Given the description of an element on the screen output the (x, y) to click on. 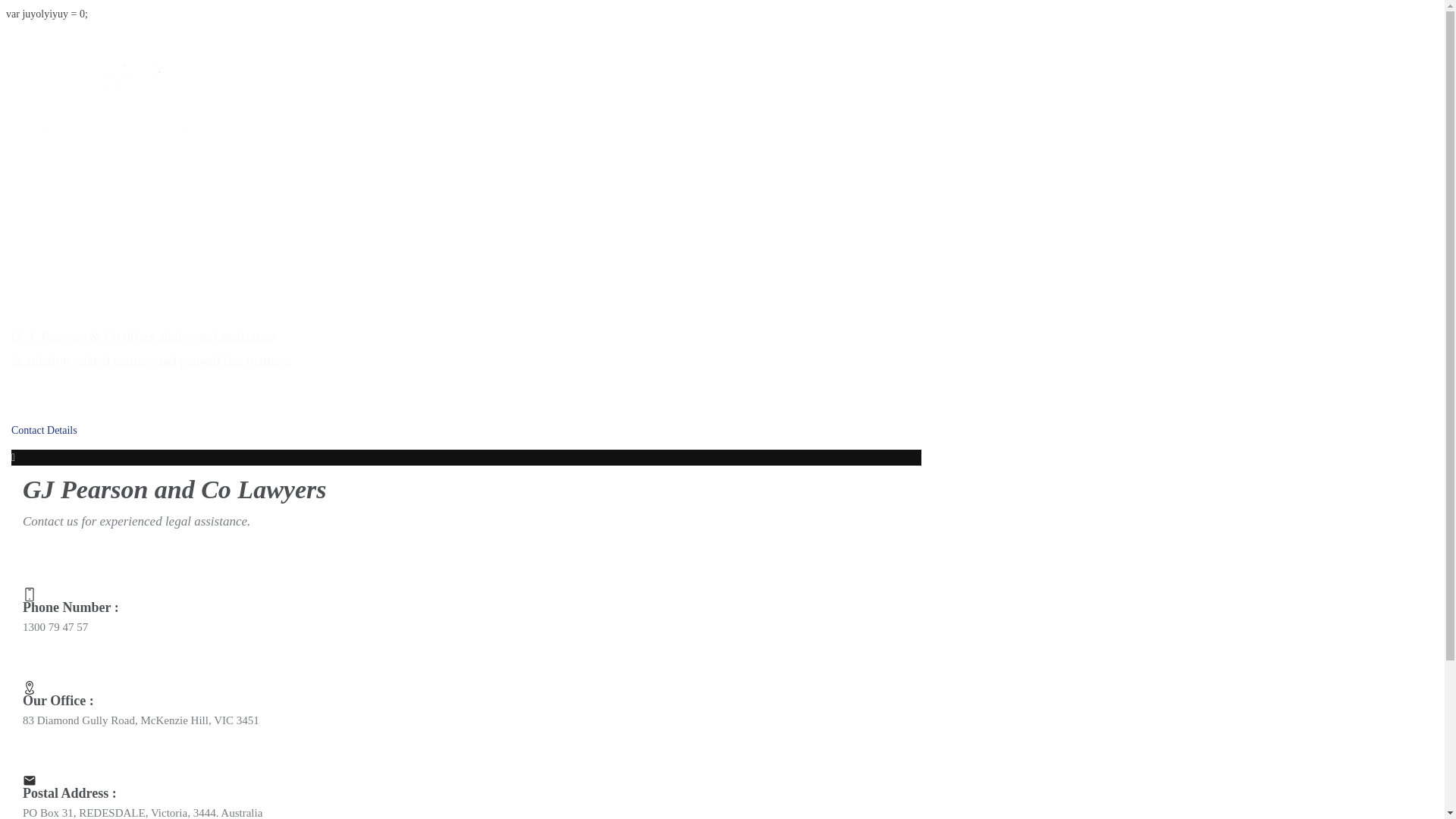
Contact Details Element type: text (105, 430)
